Given the description of an element on the screen output the (x, y) to click on. 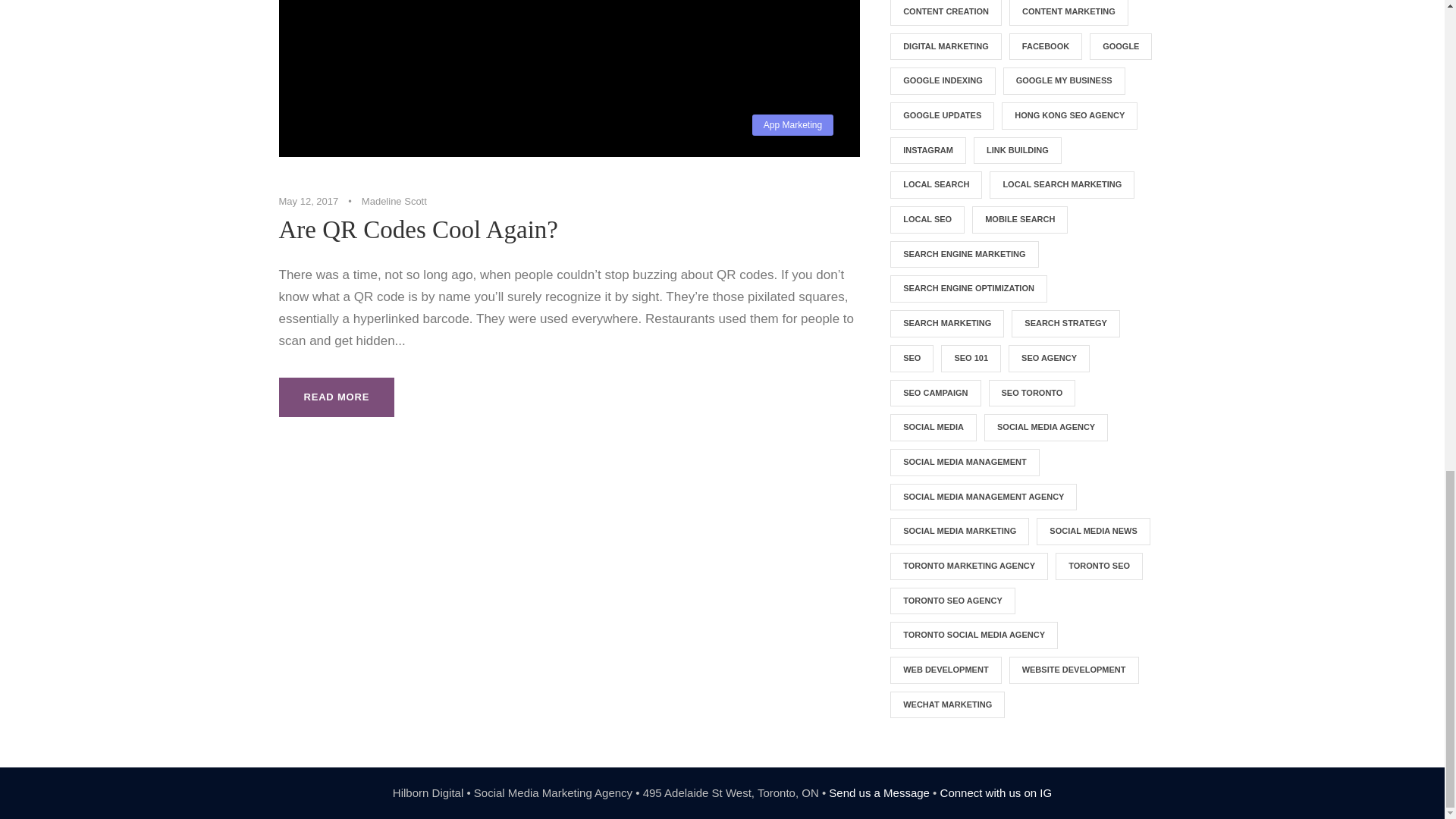
App Marketing (792, 124)
Are QR Codes Cool Again? (418, 229)
Posts by Madeline Scott (393, 201)
May 12, 2017 (309, 201)
Madeline Scott (393, 201)
Are QR Codes Cool Again? (569, 78)
READ MORE (336, 396)
